Given the description of an element on the screen output the (x, y) to click on. 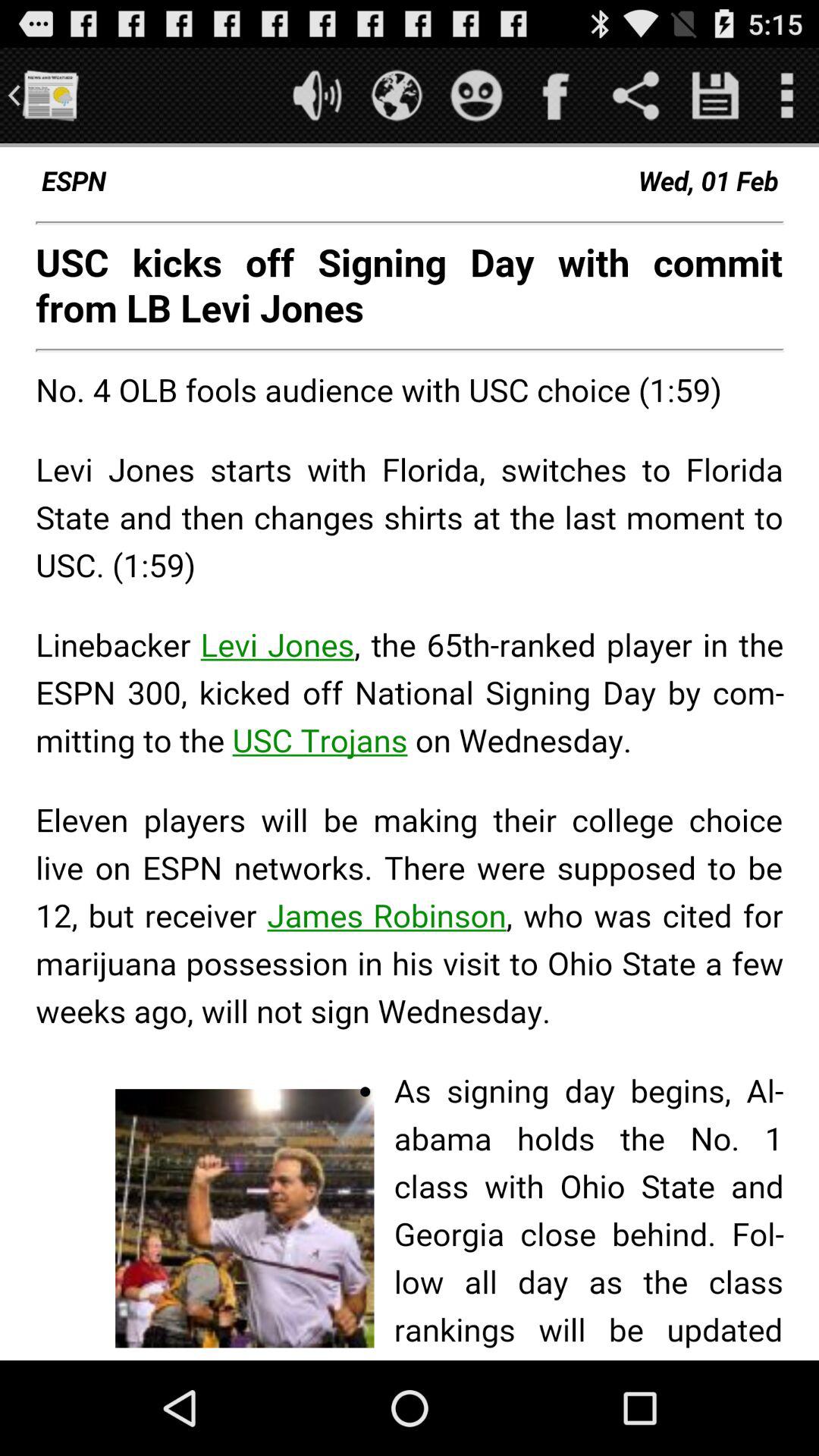
page button (715, 95)
